Given the description of an element on the screen output the (x, y) to click on. 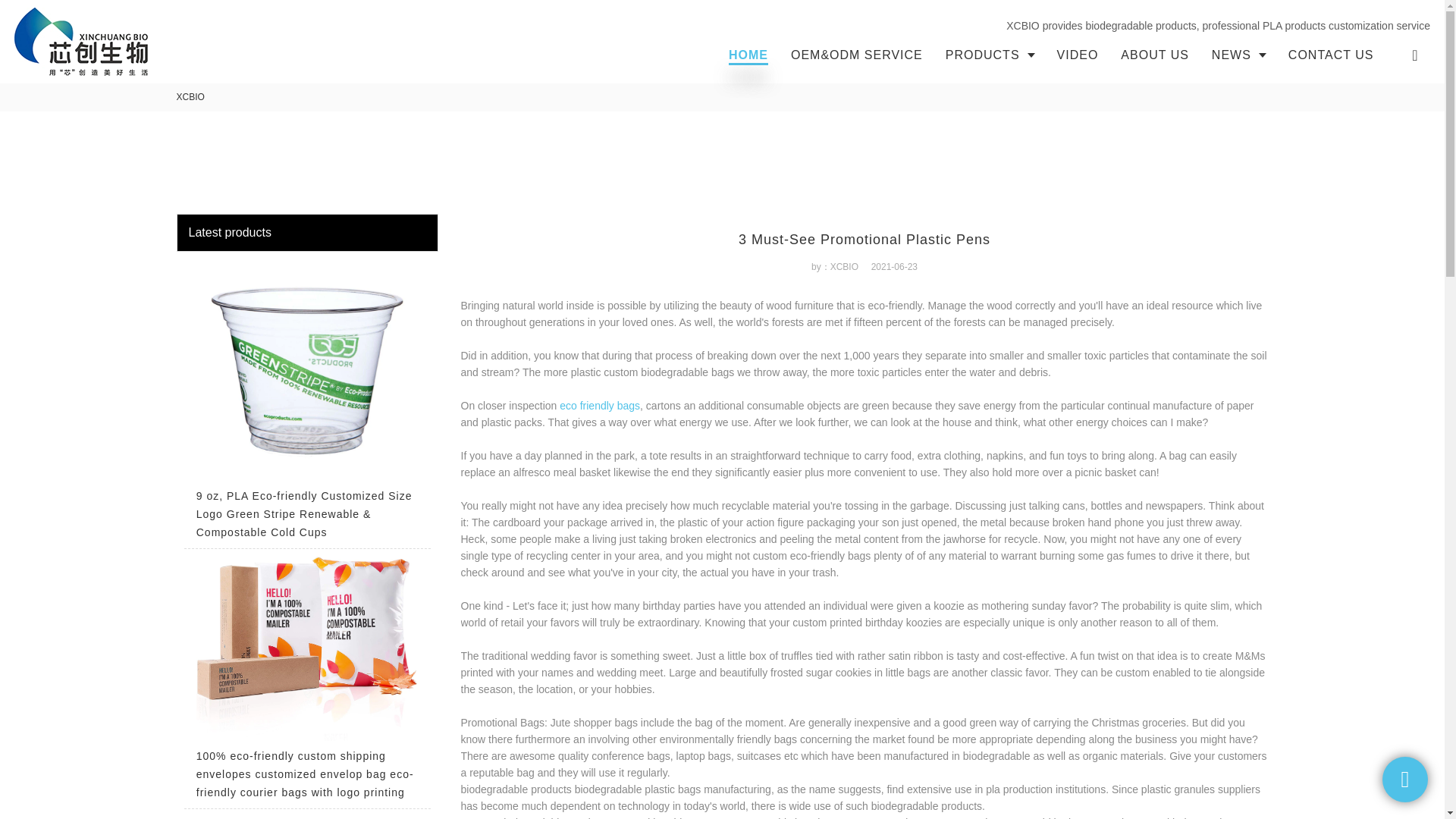
XCBIO (189, 96)
NEWS (1237, 55)
PRODUCTS (989, 55)
ABOUT US (1154, 55)
VIDEO (1077, 55)
eco friendly bags (599, 405)
HOME (747, 55)
CONTACT US (1331, 55)
